Given the description of an element on the screen output the (x, y) to click on. 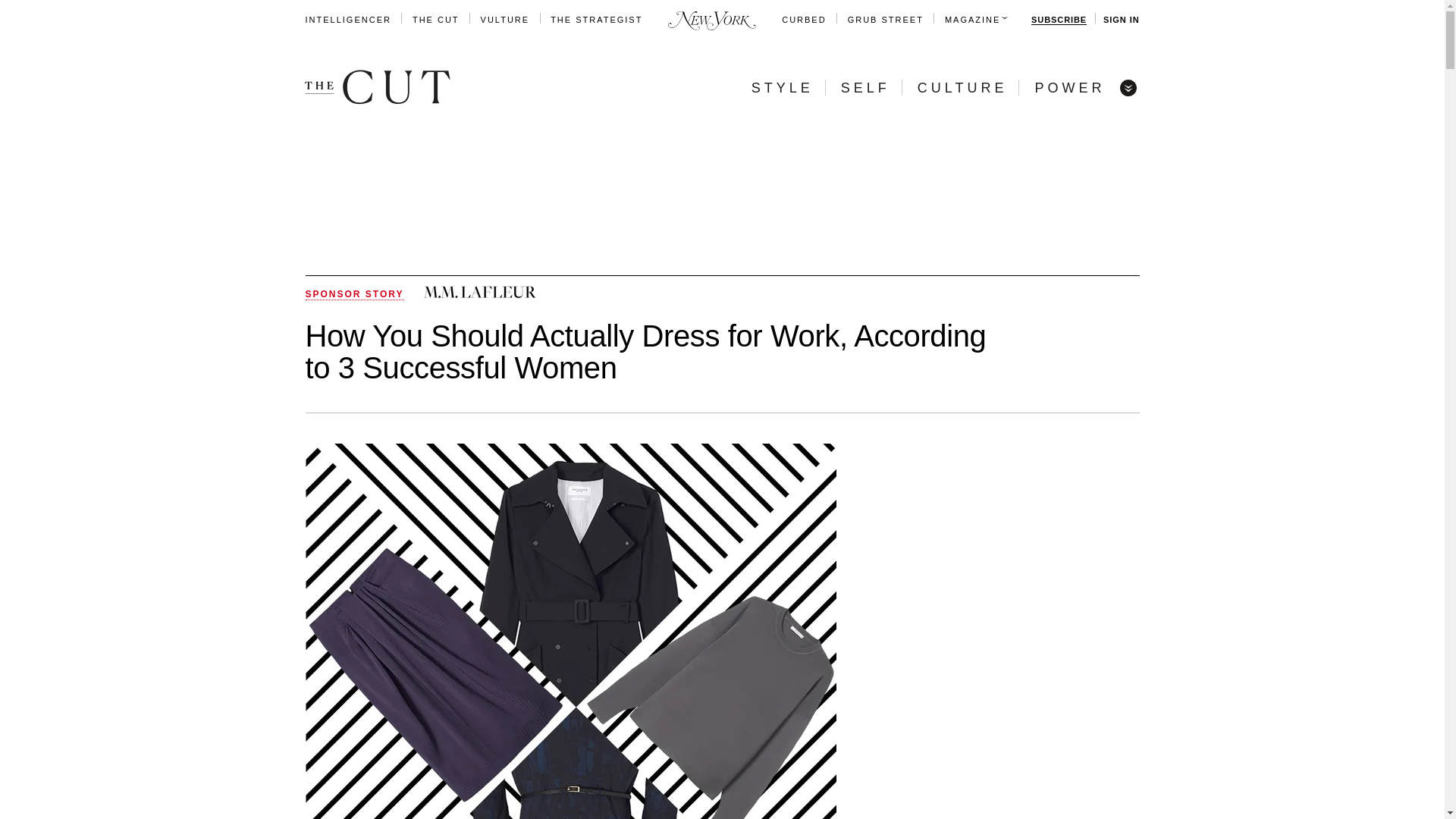
GRUB STREET (885, 19)
THE STRATEGIST (596, 19)
MAGAZINE (972, 19)
CULTURE (962, 87)
VULTURE (504, 19)
SIGN IN (1120, 19)
SUBSCRIBE (1058, 19)
INTELLIGENCER (347, 19)
Menu (1127, 87)
CURBED (803, 19)
